Given the description of an element on the screen output the (x, y) to click on. 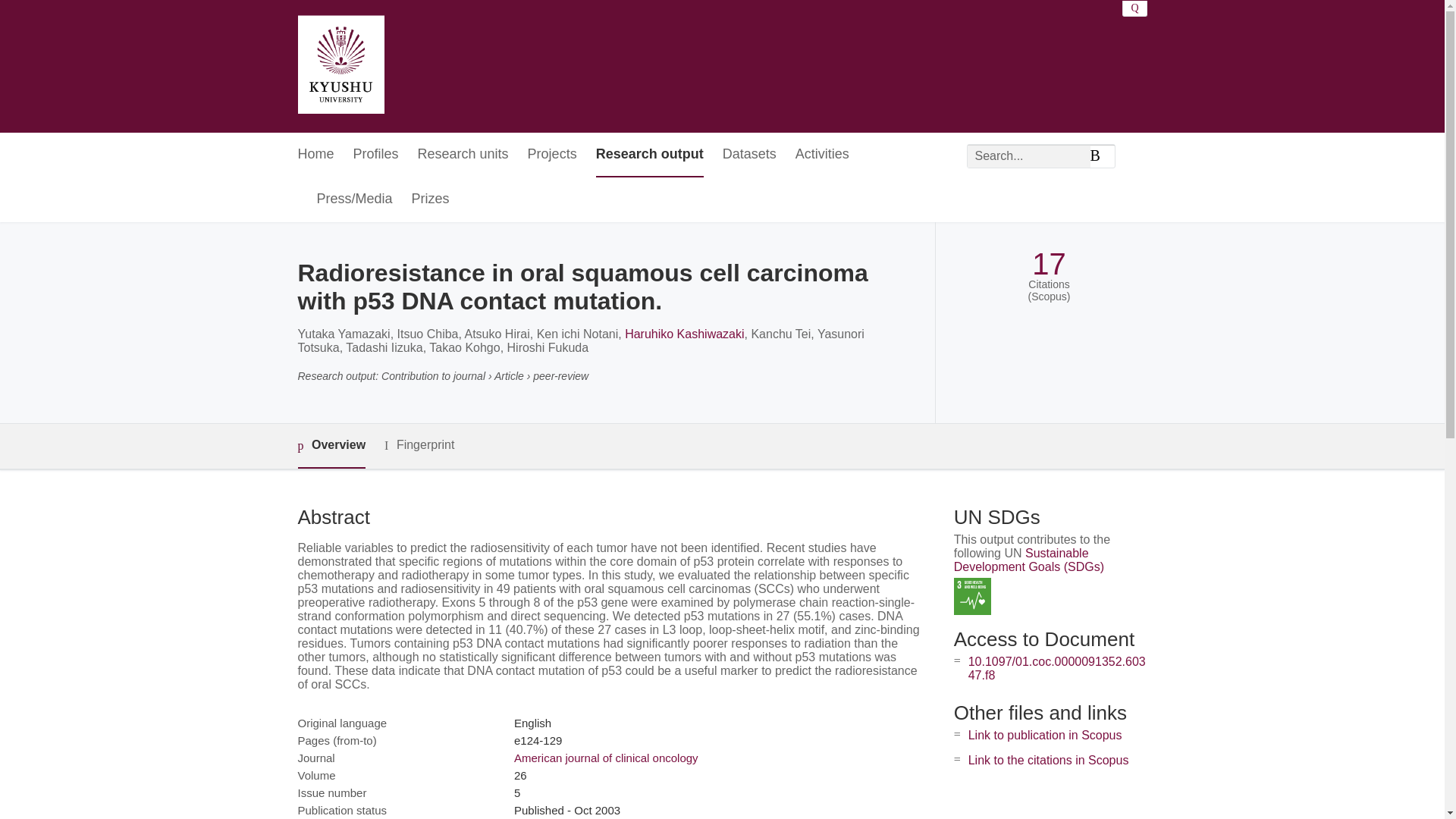
Overview (331, 446)
Haruhiko Kashiwazaki (684, 333)
Datasets (749, 154)
American journal of clinical oncology (605, 757)
Activities (821, 154)
Link to publication in Scopus (1045, 735)
Fingerprint (419, 445)
Link to the citations in Scopus (1048, 759)
Projects (551, 154)
